Given the description of an element on the screen output the (x, y) to click on. 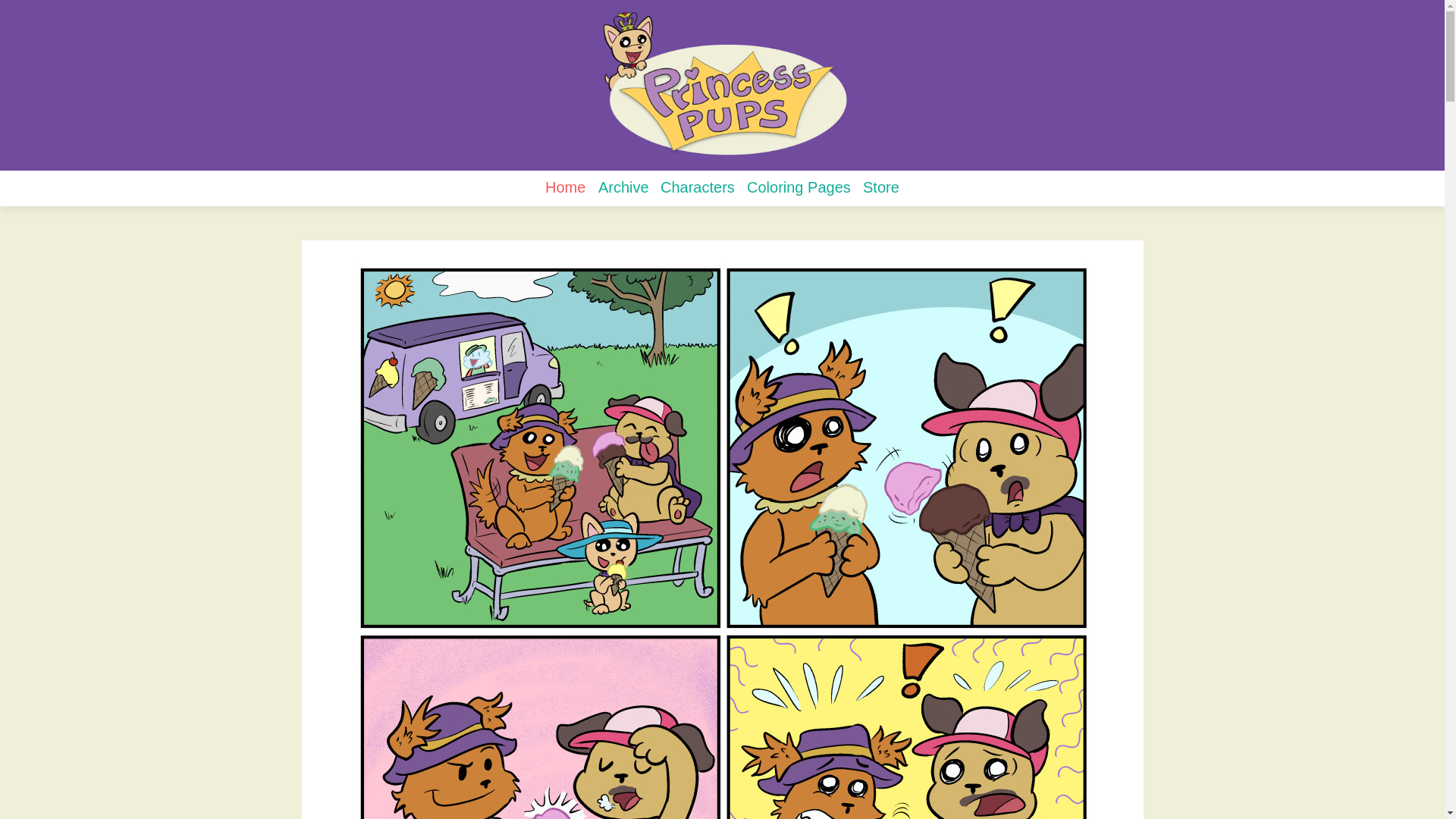
Coloring Pages (799, 186)
Coloring Pages (799, 186)
Store (881, 186)
Characters (697, 186)
Home (564, 188)
Characters (697, 186)
Archive (623, 186)
Store (881, 186)
Home (564, 188)
Archive (623, 186)
